Given the description of an element on the screen output the (x, y) to click on. 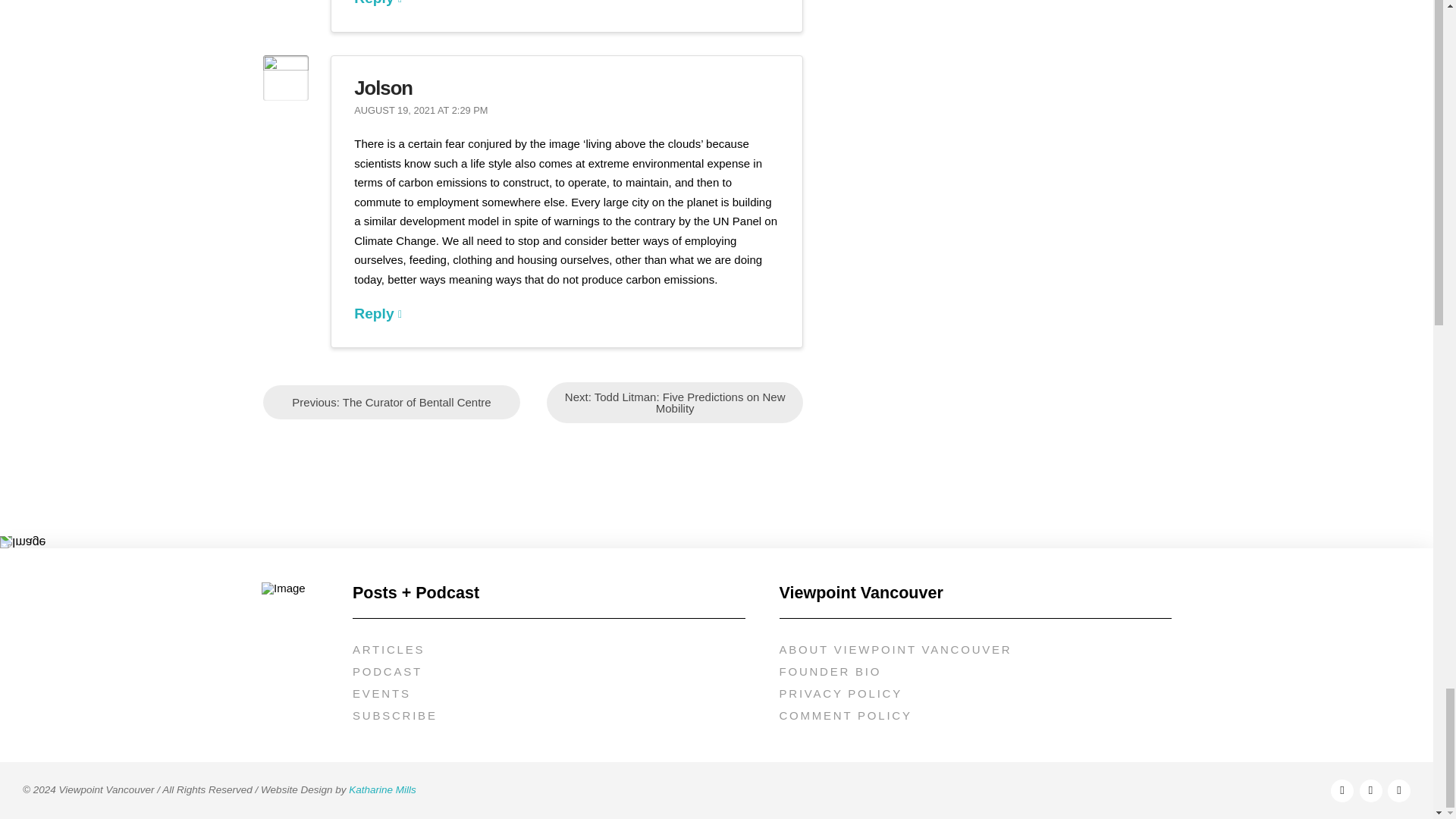
AUGUST 19, 2021 AT 2:29 PM (420, 110)
Next: Todd Litman: Five Predictions on New Mobility (675, 402)
Previous: The Curator of Bentall Centre (391, 401)
Reply (377, 313)
Katharine Mills Website Designer Wordpress Developer (382, 789)
Reply (377, 2)
